Given the description of an element on the screen output the (x, y) to click on. 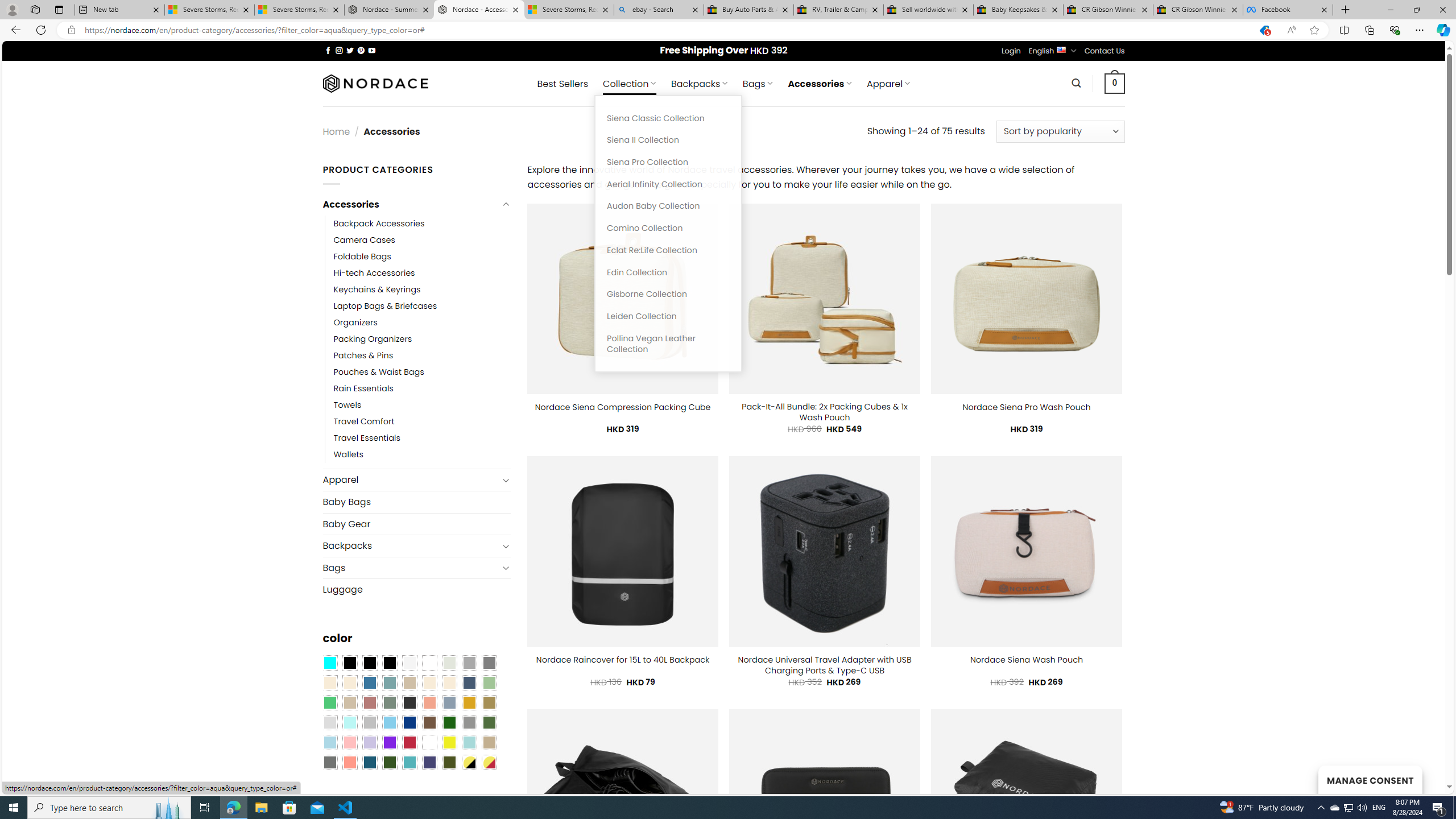
Pouches & Waist Bags (378, 371)
Coral (429, 702)
Travel Essentials (422, 438)
Siena Classic Collection (668, 118)
MANAGE CONSENT (1369, 779)
Light Gray (329, 721)
Laptop Bags & Briefcases (422, 305)
Hi-tech Accessories (373, 272)
Navy Blue (408, 721)
White (429, 741)
Nordace - Accessories (478, 9)
Packing Organizers (422, 339)
Black (369, 662)
